Given the description of an element on the screen output the (x, y) to click on. 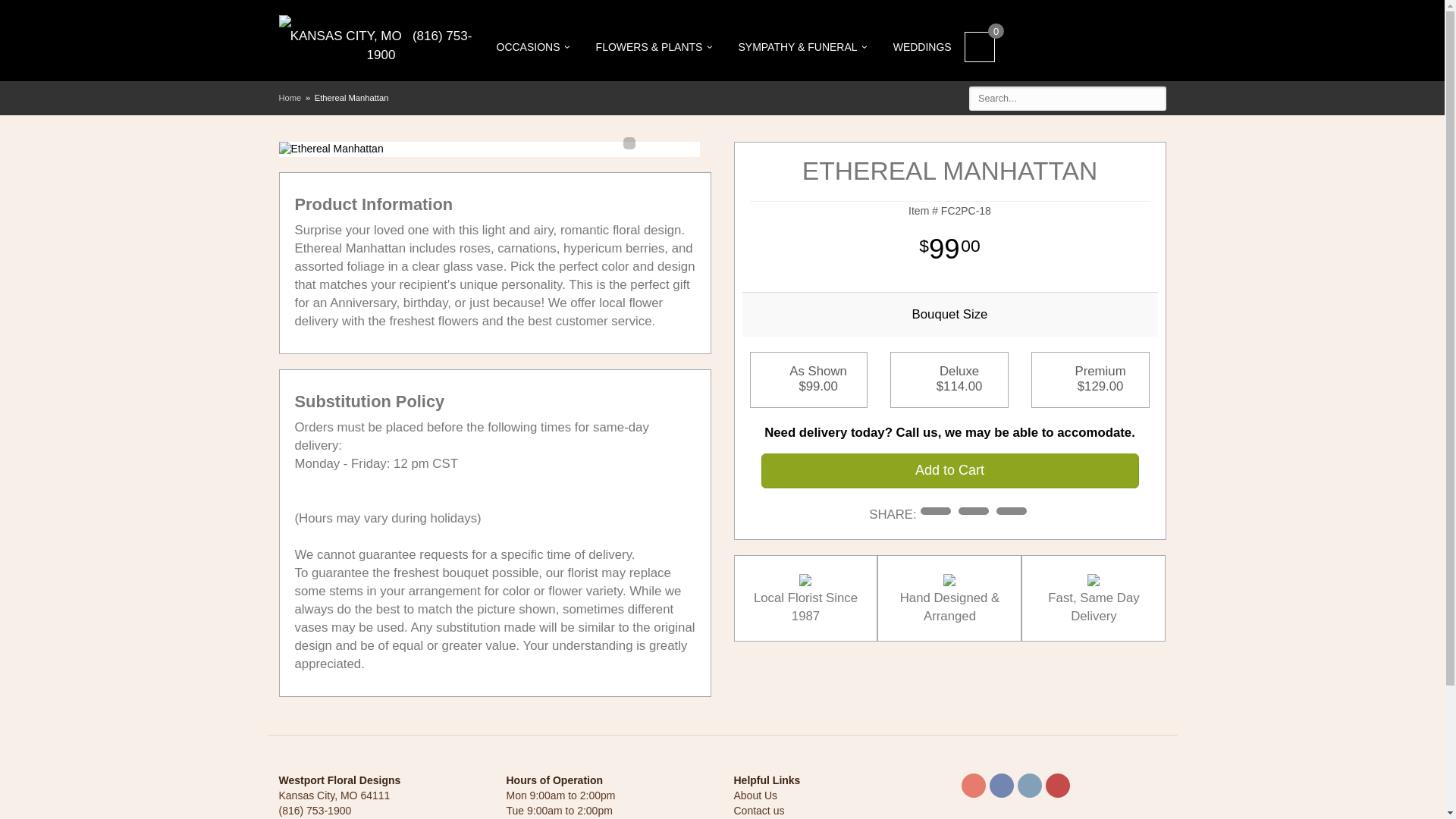
About Us (755, 795)
0 (978, 46)
WEDDINGS (921, 46)
Add to Cart (949, 470)
Contact us (758, 810)
Home (290, 97)
OCCASIONS (533, 46)
